Given the description of an element on the screen output the (x, y) to click on. 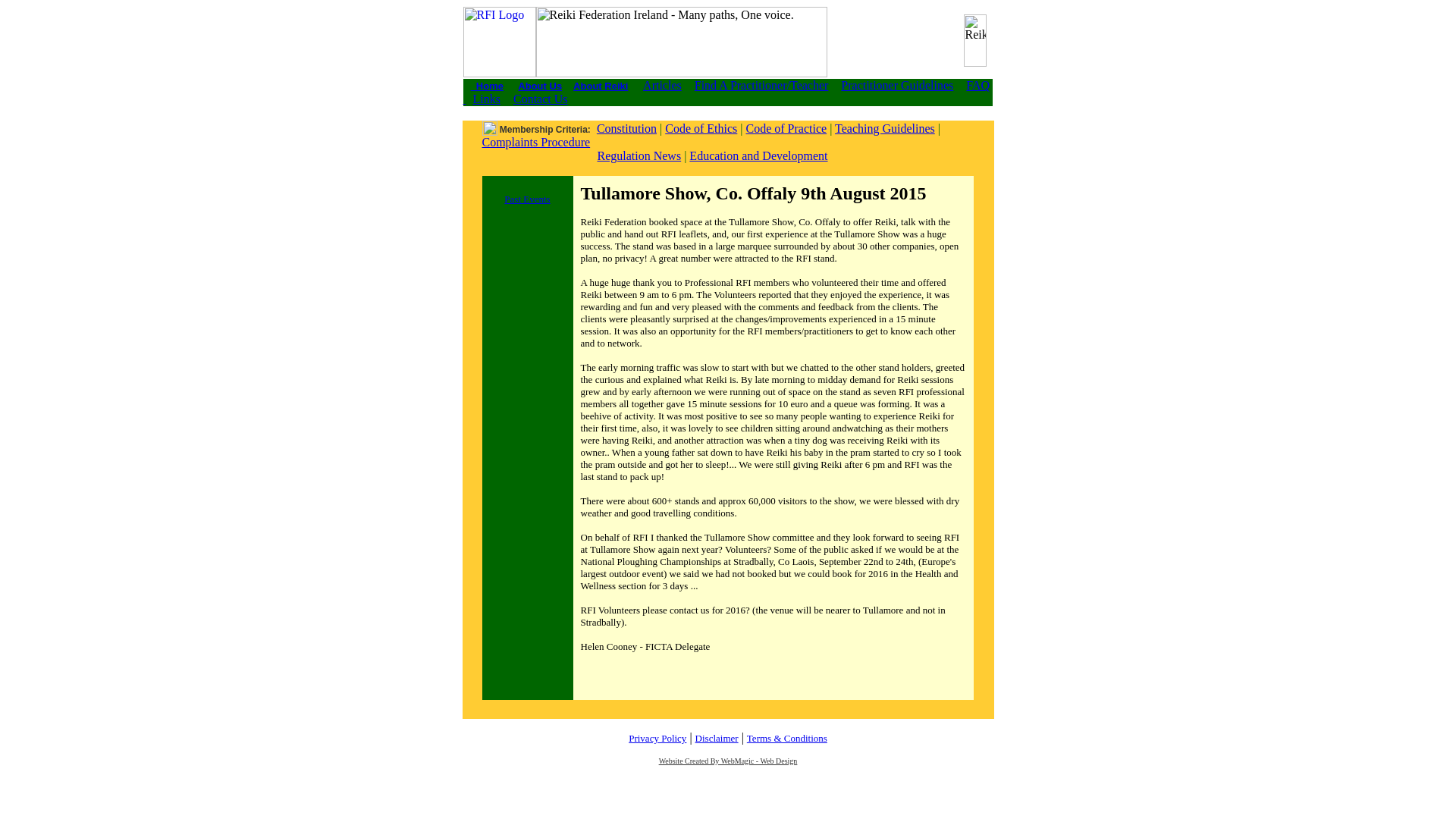
Regulation News (638, 155)
Privacy Policy (656, 737)
About Reiki (600, 85)
Past Events (526, 197)
Code of Ethics (700, 128)
Practitioner Guidelines (897, 84)
Code of Practice (786, 128)
FAQ   (726, 91)
Complaints Procedure (536, 141)
Website Created By WebMagic - Web Design (728, 758)
Teaching Guidelines (884, 128)
  Home (486, 85)
Constitution (626, 128)
Articles (662, 84)
About Us (540, 85)
